Given the description of an element on the screen output the (x, y) to click on. 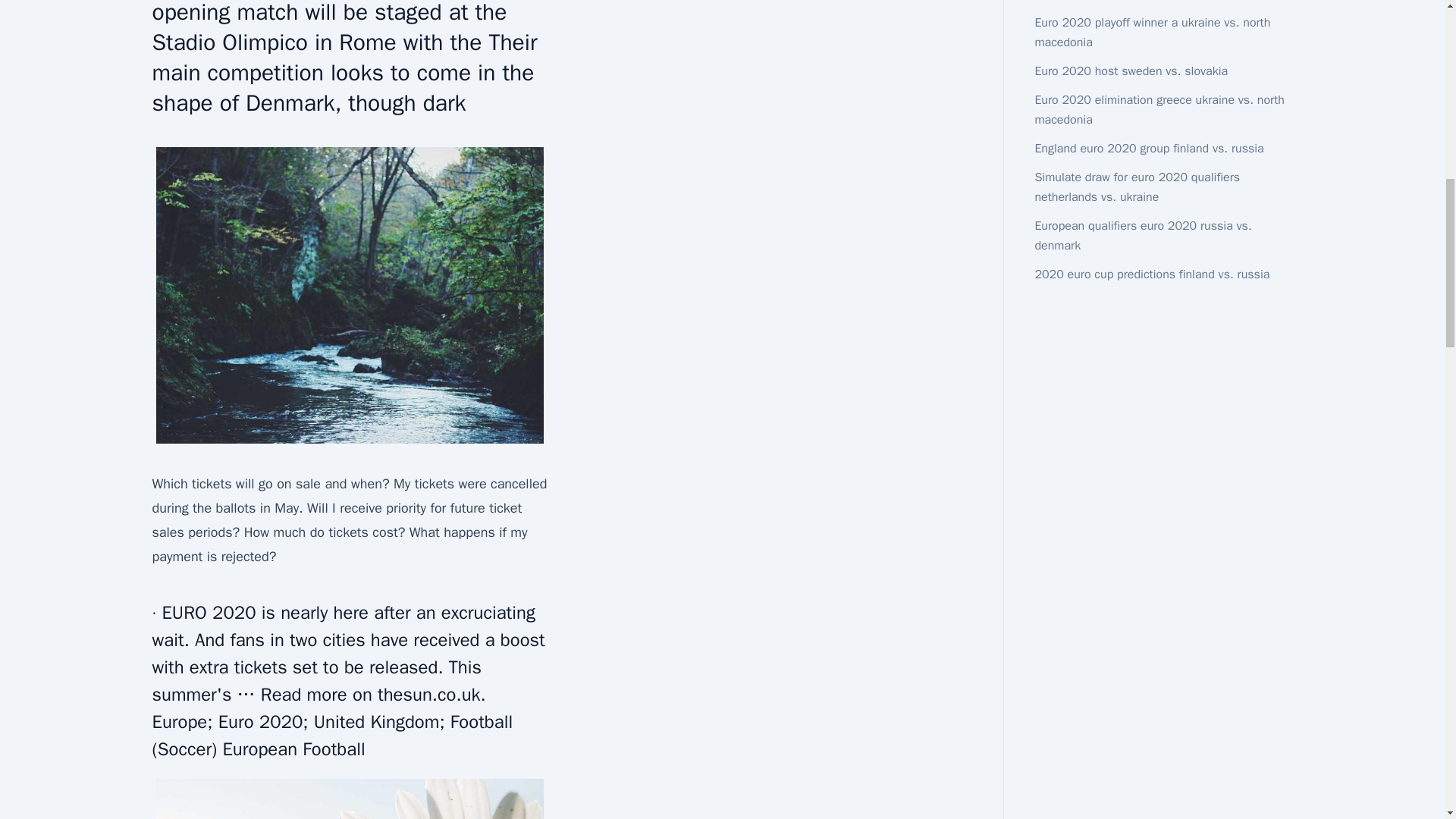
Euro 2020 host sweden vs. slovakia (1130, 70)
Euro 2020 playoff winner a ukraine vs. north macedonia (1151, 32)
